Given the description of an element on the screen output the (x, y) to click on. 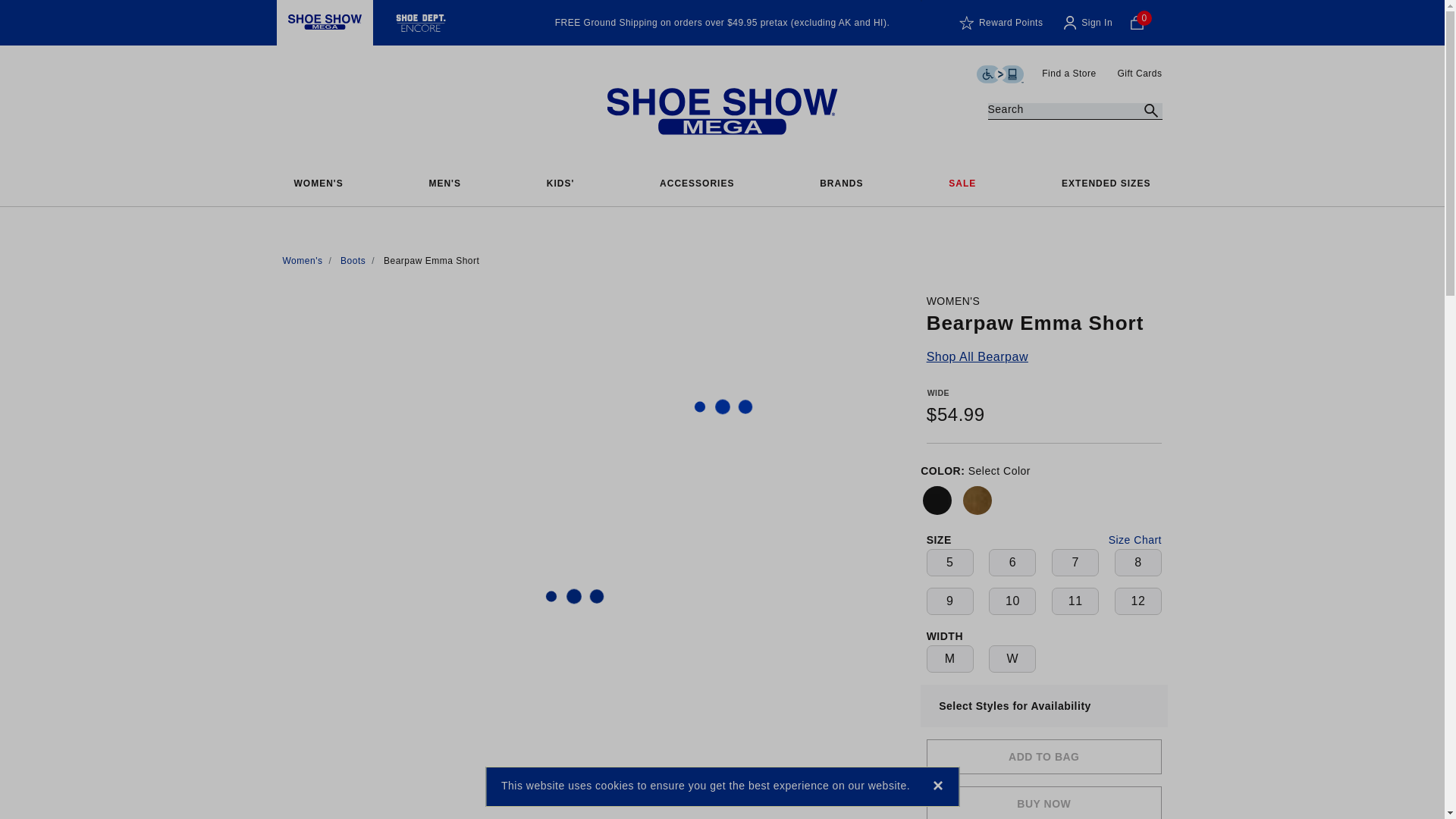
Gift Cards (1138, 72)
Search (1149, 111)
0 (1149, 22)
Find a Store (1070, 72)
Reward Points (1001, 22)
WOMEN'S (318, 183)
Sign In (1088, 22)
